Given the description of an element on the screen output the (x, y) to click on. 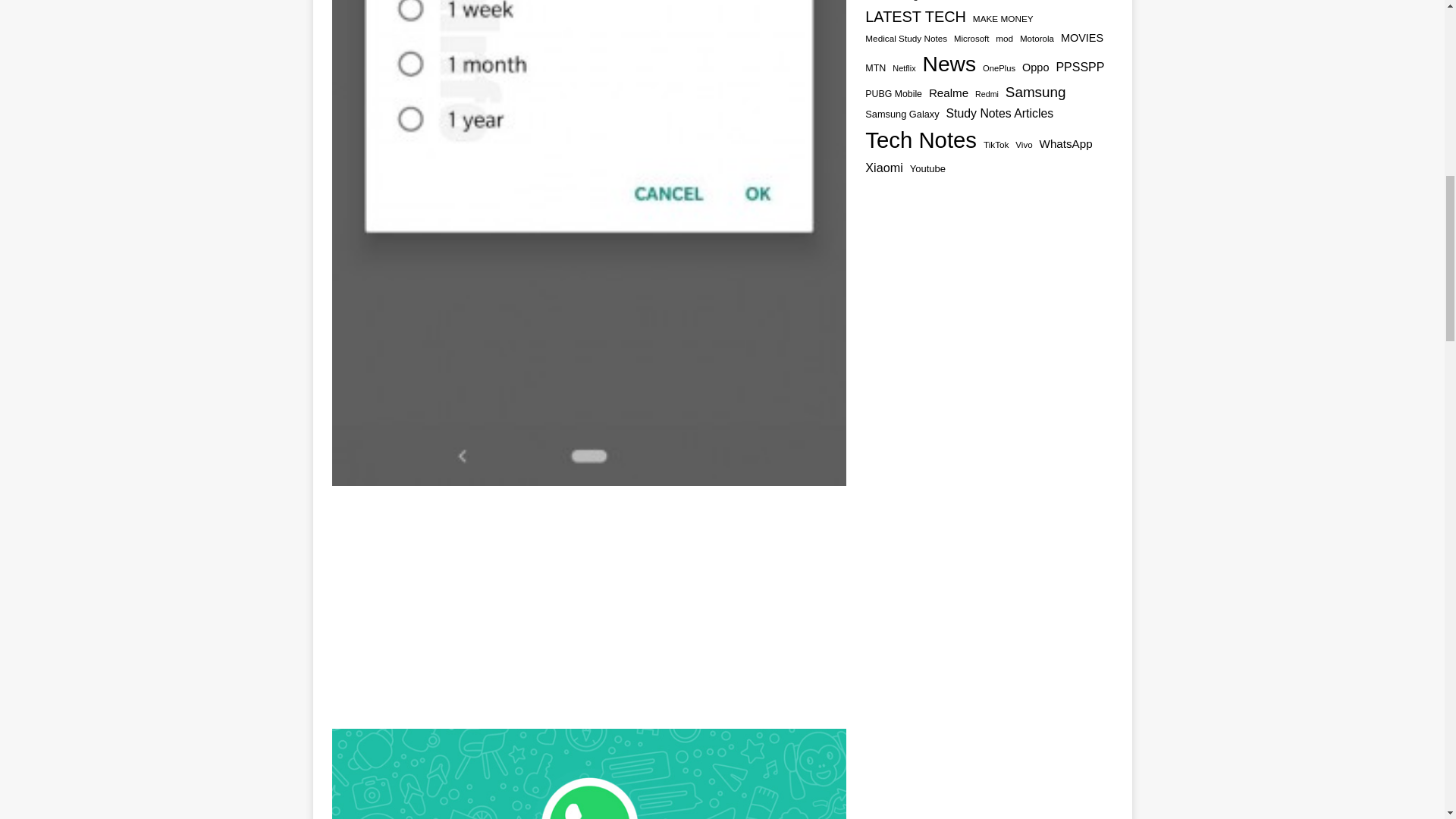
Advertisement (588, 607)
